Given the description of an element on the screen output the (x, y) to click on. 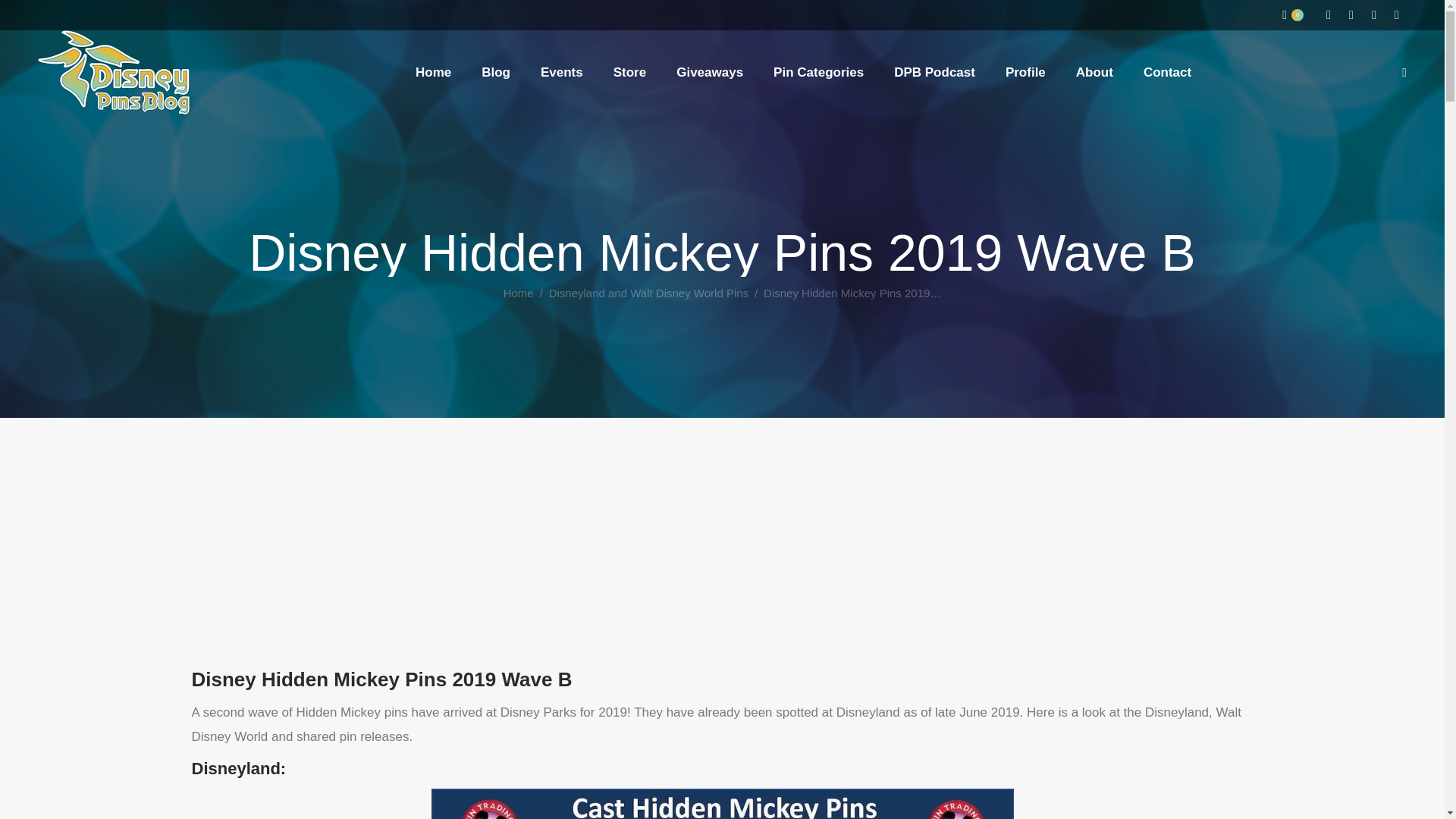
X page opens in new window (1396, 14)
Instagram page opens in new window (1328, 14)
Disneyland and Walt Disney World Pins (648, 292)
Giveaways (709, 72)
Pin Categories (818, 72)
YouTube page opens in new window (1374, 14)
Advertisement (721, 581)
Facebook page opens in new window (1350, 14)
YouTube page opens in new window (1374, 14)
Facebook page opens in new window (1350, 14)
DPB Podcast (934, 72)
 0 (1292, 14)
Home (518, 292)
X page opens in new window (1396, 14)
Instagram page opens in new window (1328, 14)
